Given the description of an element on the screen output the (x, y) to click on. 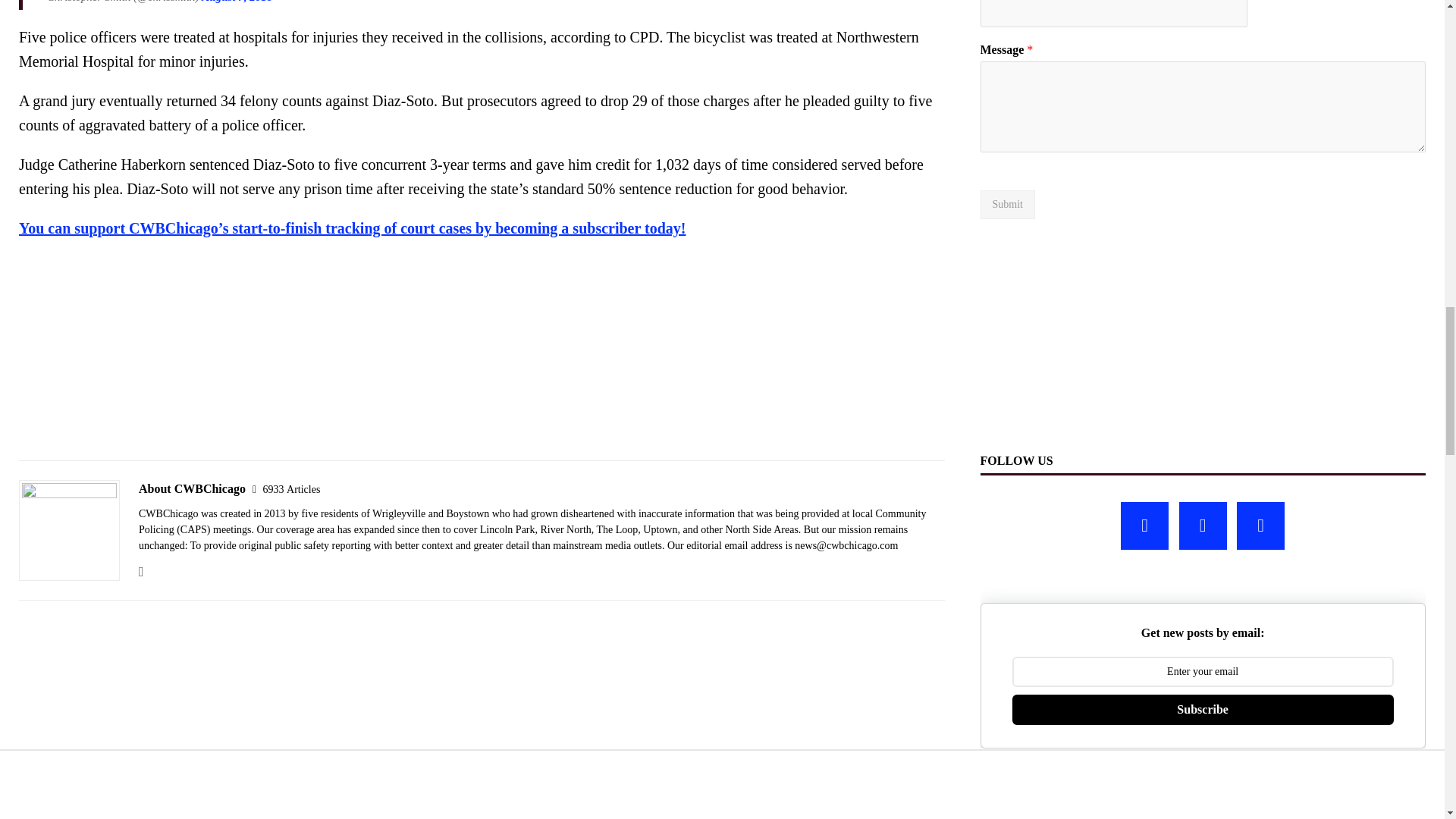
6933 Articles (291, 489)
Submit (1007, 204)
August 7, 2018 (237, 1)
Subscribe (1202, 709)
More articles written by CWBChicago' (291, 489)
